Given the description of an element on the screen output the (x, y) to click on. 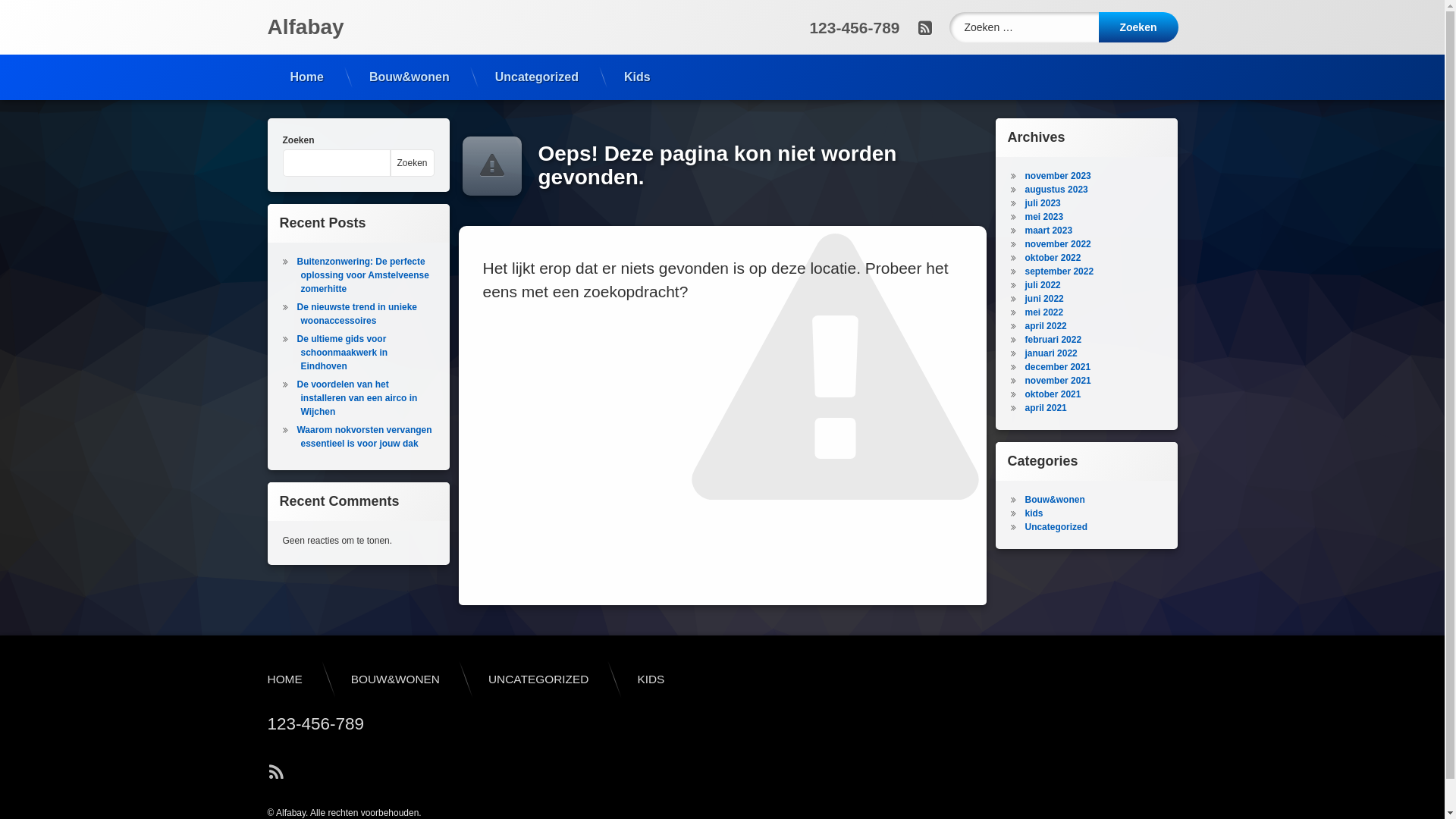
Uncategorized Element type: text (536, 77)
oktober 2022 Element type: text (1052, 257)
juli 2022 Element type: text (1042, 284)
Uncategorized Element type: text (1055, 526)
BOUW&WONEN Element type: text (395, 679)
maart 2023 Element type: text (1048, 230)
HOME Element type: text (284, 679)
april 2022 Element type: text (1045, 325)
De nieuwste trend in unieke woonaccessoires Element type: text (356, 313)
januari 2022 Element type: text (1050, 353)
Bouw&wonen Element type: text (1054, 499)
UNCATEGORIZED Element type: text (538, 679)
De voordelen van het installeren van een airco in Wijchen Element type: text (356, 398)
Zoeken Element type: text (412, 162)
Kids Element type: text (636, 77)
december 2021 Element type: text (1057, 366)
mei 2023 Element type: text (1043, 216)
Zoeken Element type: text (1137, 27)
kids Element type: text (1033, 513)
Bouw&wonen Element type: text (409, 77)
De ultieme gids voor schoonmaakwerk in Eindhoven Element type: text (341, 352)
november 2022 Element type: text (1057, 243)
november 2021 Element type: text (1057, 380)
oktober 2021 Element type: text (1052, 394)
april 2021 Element type: text (1045, 407)
Tel:
123-456-789 Element type: text (315, 724)
september 2022 Element type: text (1058, 271)
juli 2023 Element type: text (1042, 202)
Tel:
123-456-789 Element type: text (854, 26)
Home Element type: text (306, 77)
KIDS Element type: text (650, 679)
augustus 2023 Element type: text (1055, 189)
november 2023 Element type: text (1057, 175)
RSS Element type: text (275, 772)
RSS Element type: text (924, 27)
juni 2022 Element type: text (1043, 298)
februari 2022 Element type: text (1052, 339)
Alfabay Element type: text (304, 26)
Waarom nokvorsten vervangen essentieel is voor jouw dak Element type: text (363, 436)
mei 2022 Element type: text (1043, 312)
